Given the description of an element on the screen output the (x, y) to click on. 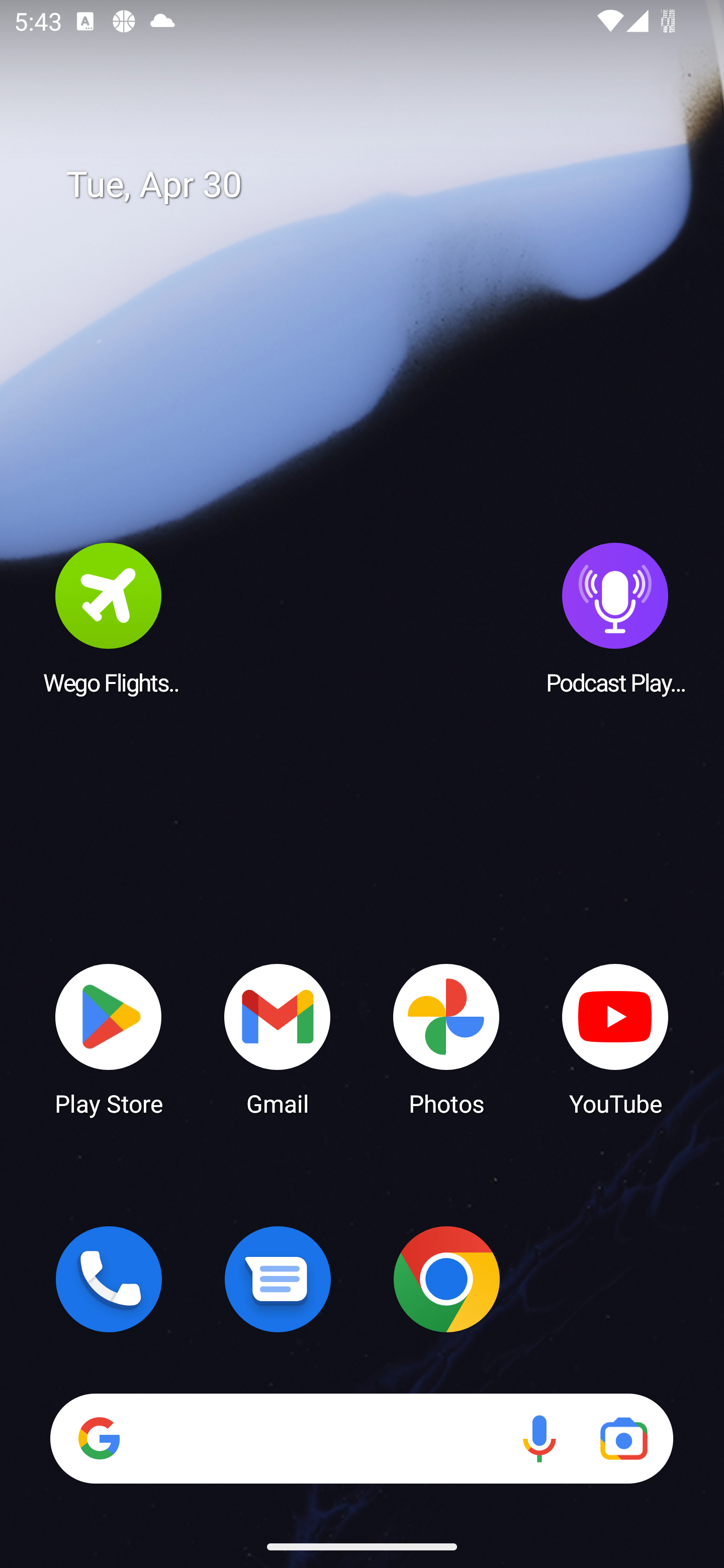
Tue, Apr 30 (375, 184)
Wego Flights & Hotels (108, 617)
Podcast Player (615, 617)
Play Store (108, 1038)
Gmail (277, 1038)
Photos (445, 1038)
YouTube (615, 1038)
Phone (108, 1279)
Messages (277, 1279)
Chrome (446, 1279)
Voice search (539, 1438)
Google Lens (623, 1438)
